Given the description of an element on the screen output the (x, y) to click on. 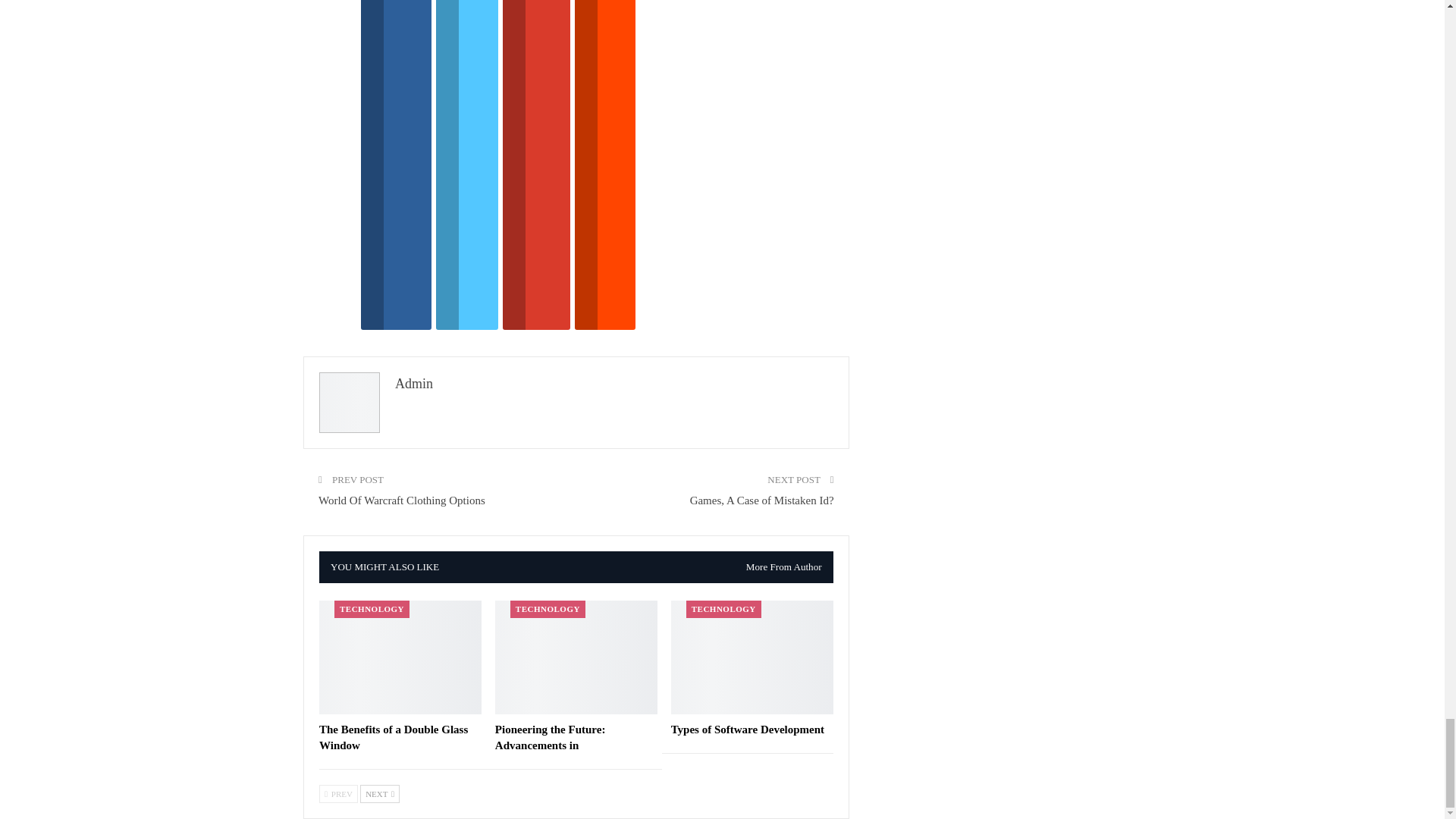
Pioneering the Future: Advancements in (576, 657)
The Benefits of a Double Glass Window (392, 737)
Pioneering the Future: Advancements in (550, 737)
The Benefits of a Double Glass Window (399, 657)
Next (378, 793)
Types of Software Development (747, 729)
Types of Software Development (751, 657)
Previous (338, 793)
